Given the description of an element on the screen output the (x, y) to click on. 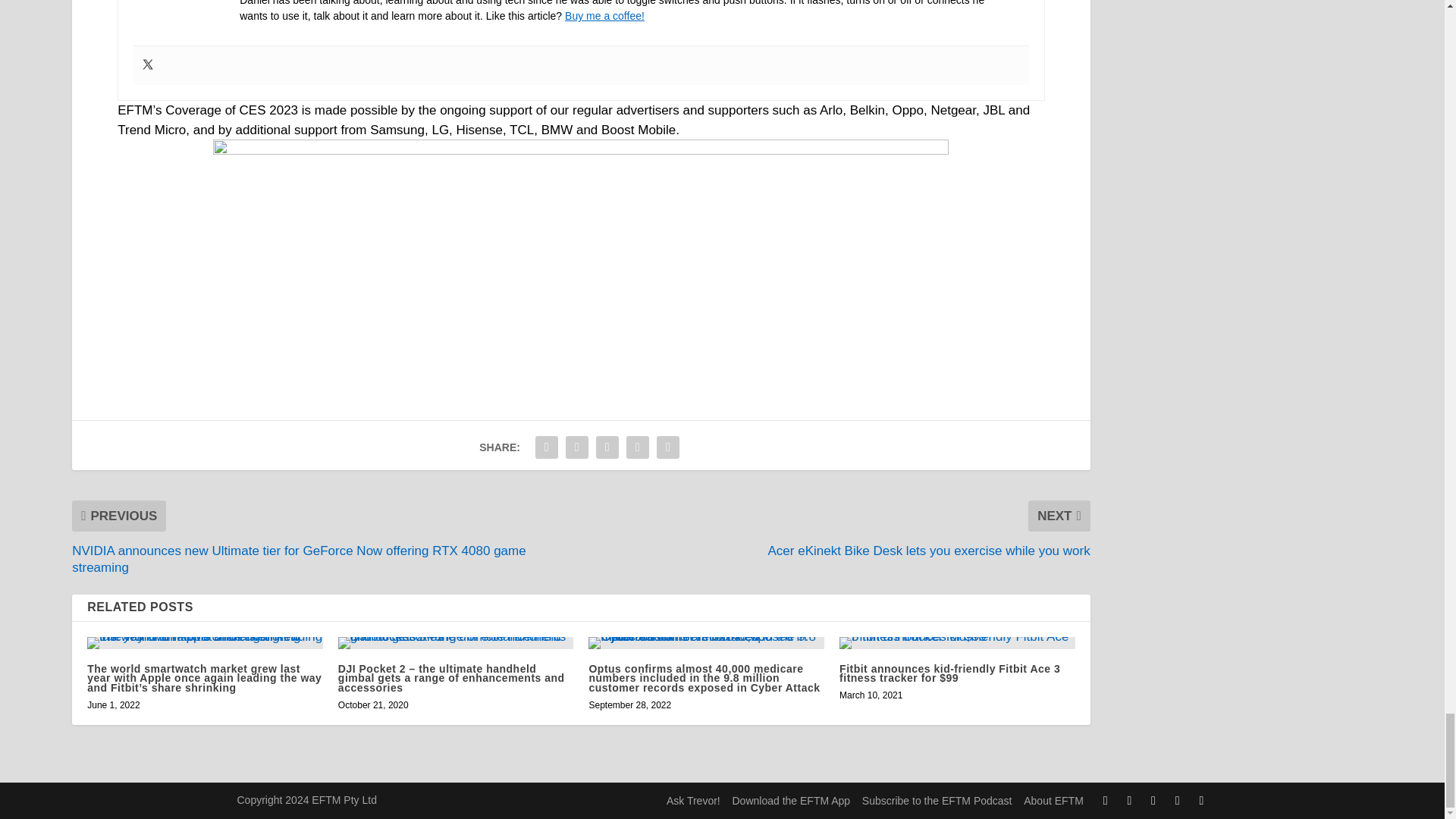
Buy me a coffee! (604, 15)
